Given the description of an element on the screen output the (x, y) to click on. 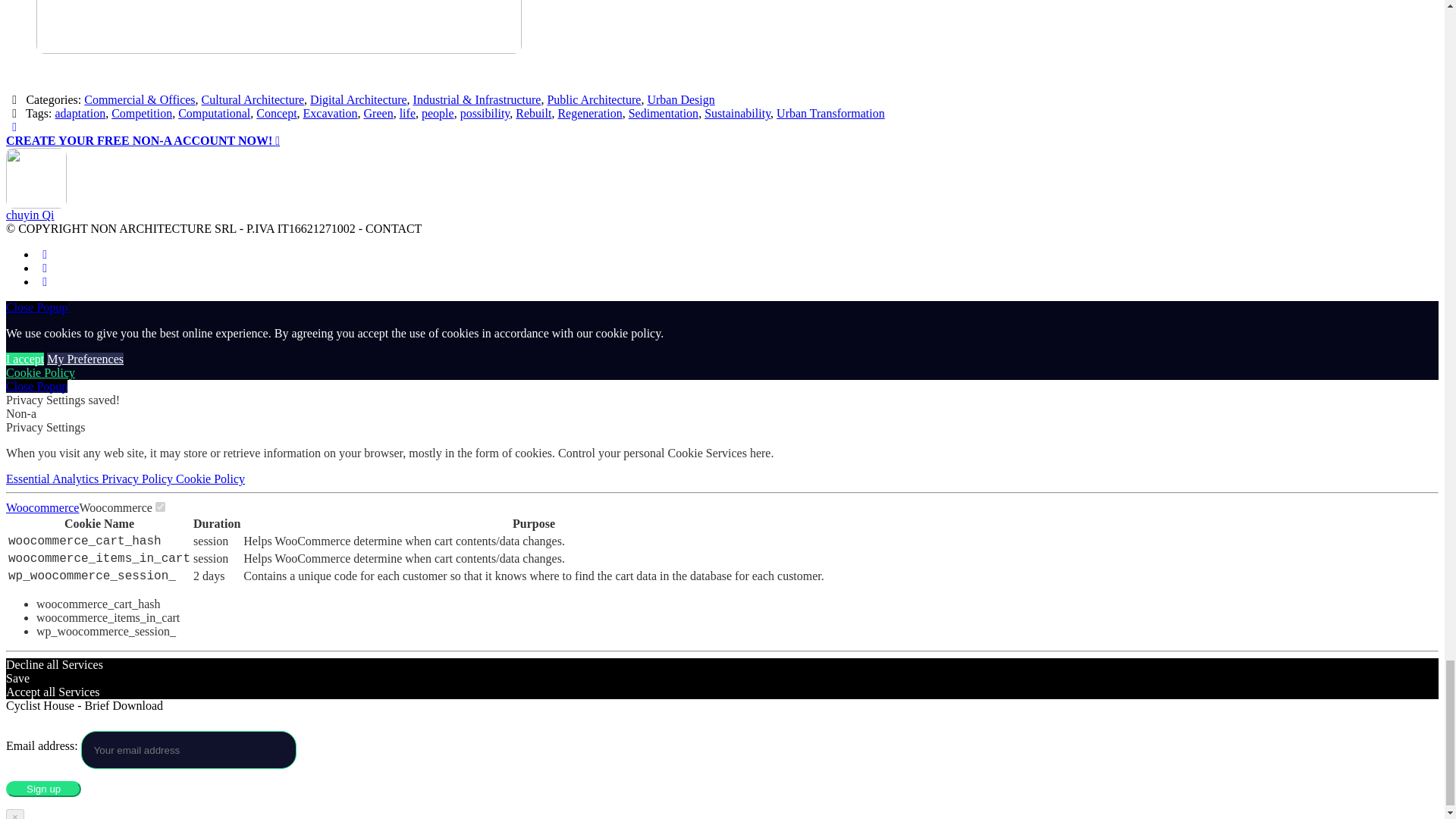
Sign up (43, 788)
close (35, 386)
on (160, 506)
